Given the description of an element on the screen output the (x, y) to click on. 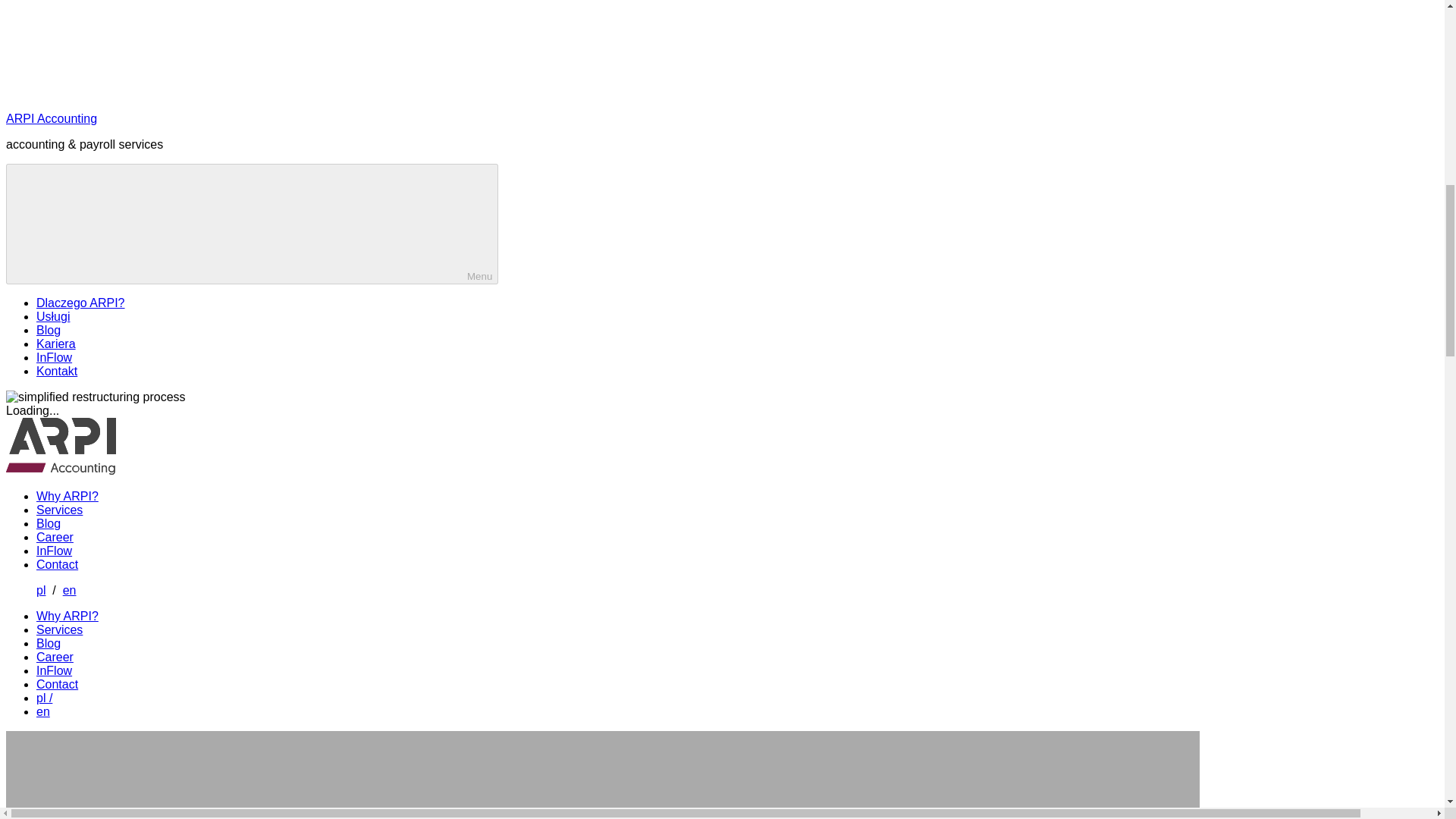
Contact (57, 684)
InFlow (53, 670)
en (42, 711)
InFlow (53, 357)
Services (59, 629)
Services (59, 509)
Blog (48, 329)
Blog (48, 522)
Why ARPI? (67, 615)
Kariera (55, 343)
